Given the description of an element on the screen output the (x, y) to click on. 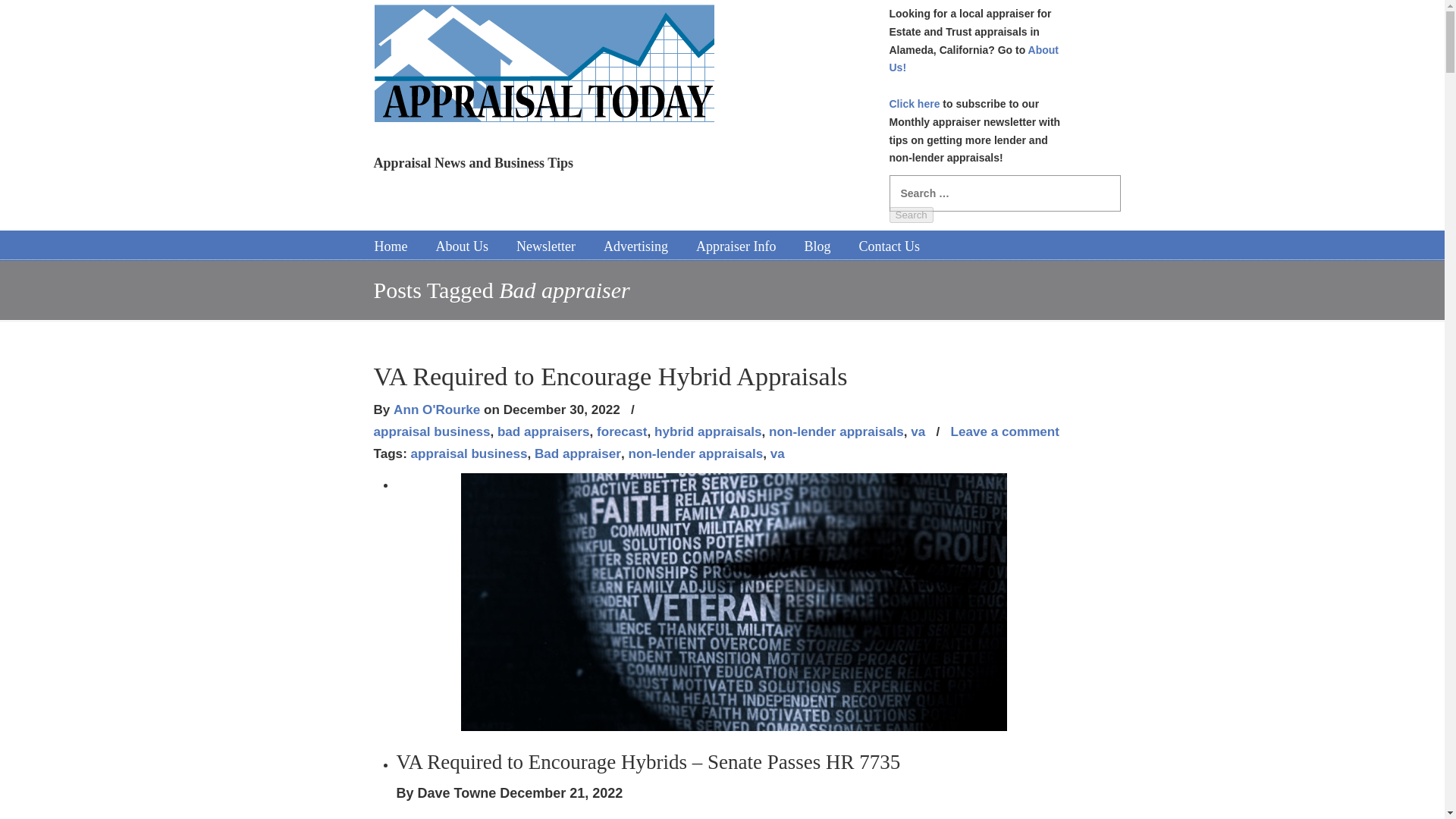
Blog (817, 246)
Ann O'Rourke (436, 409)
VA Required to Encourage Hybrid Appraisals (609, 376)
Leave a comment (1004, 431)
Search (910, 214)
Bad appraiser (577, 454)
Home (391, 246)
Search (910, 214)
Contact Us (888, 246)
Appraisal Today (542, 68)
